Given the description of an element on the screen output the (x, y) to click on. 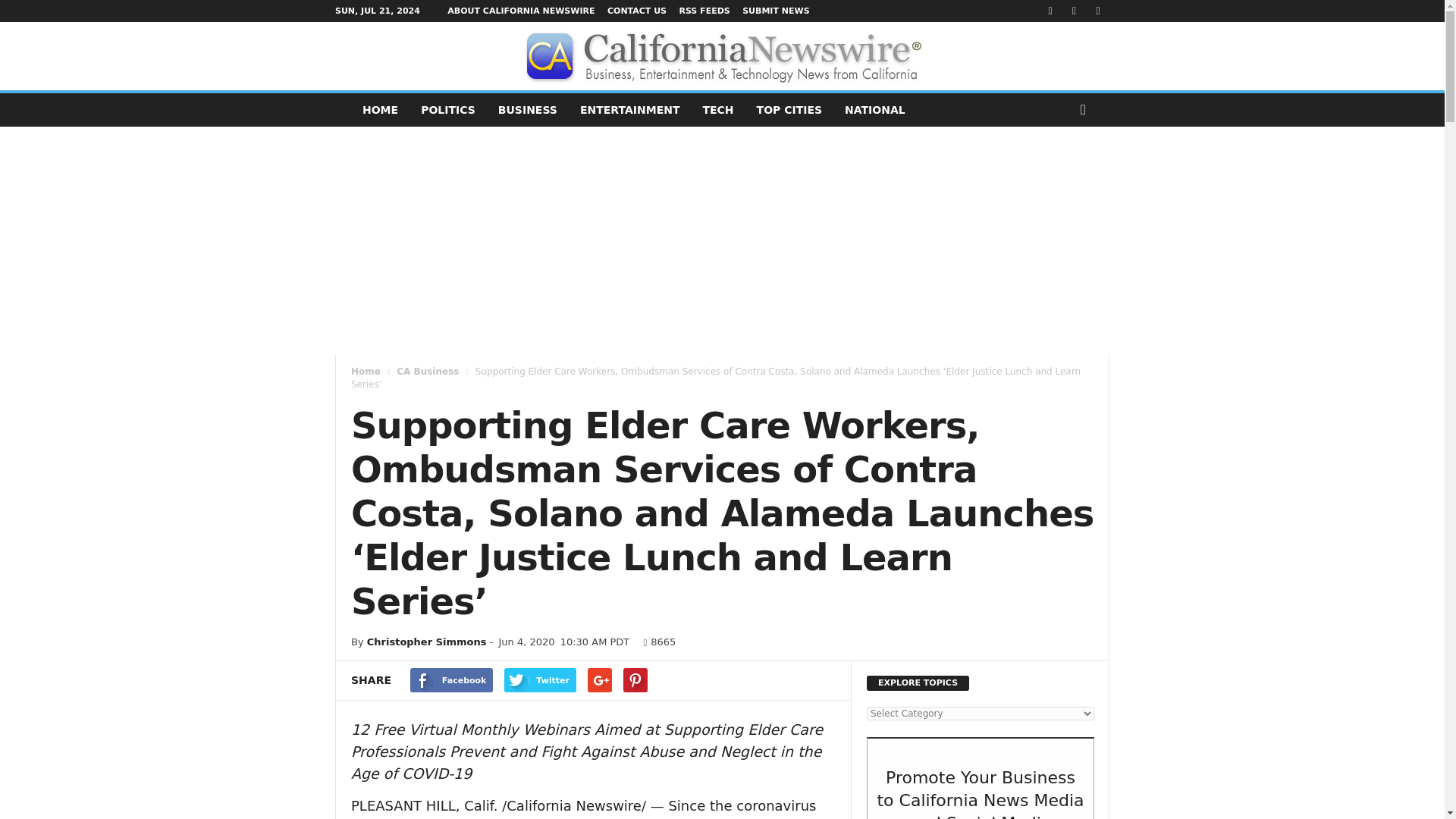
View all posts in CA Business (427, 371)
POLITICS (447, 109)
HOME (379, 109)
CONTACT US (636, 10)
SUBMIT NEWS (775, 10)
ABOUT CALIFORNIA NEWSWIRE (520, 10)
RSS FEEDS (703, 10)
